Given the description of an element on the screen output the (x, y) to click on. 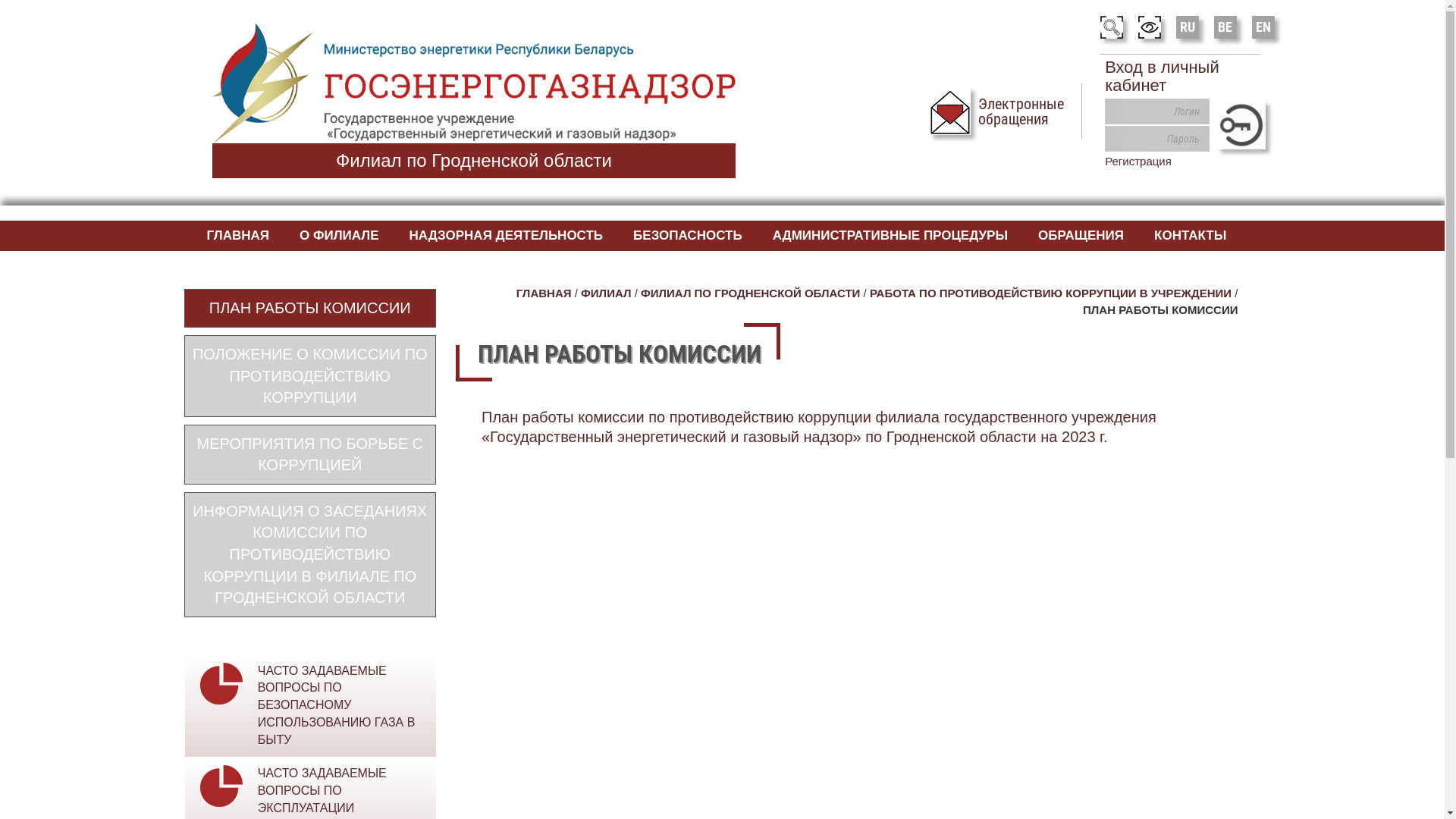
RU Element type: text (1187, 26)
BE Element type: text (1225, 26)
EN Element type: text (1263, 26)
